Given the description of an element on the screen output the (x, y) to click on. 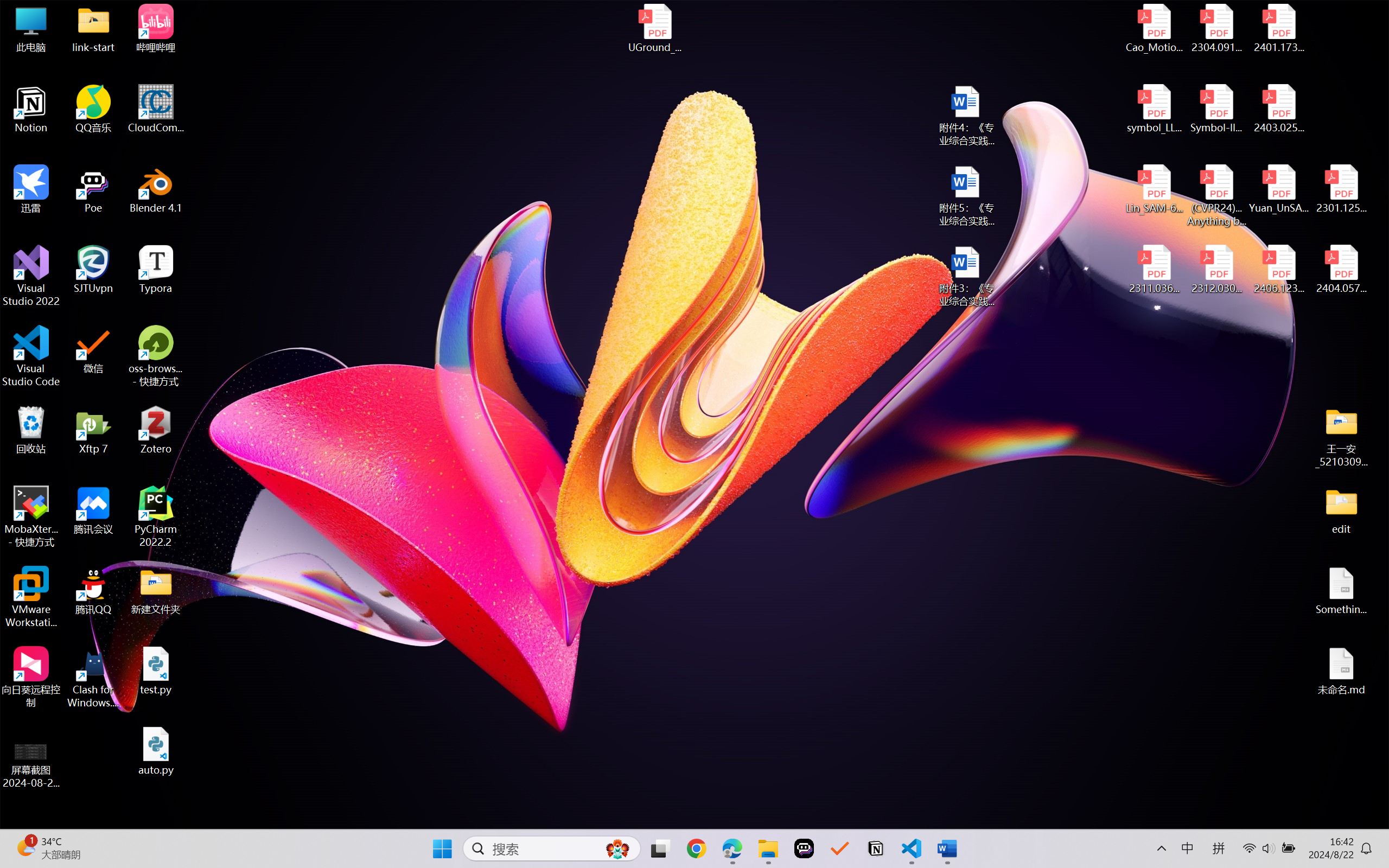
2311.03658v2.pdf (1154, 269)
2403.02502v1.pdf (1278, 109)
2312.03032v2.pdf (1216, 269)
Something.md (1340, 591)
Google Chrome (696, 848)
(CVPR24)Matching Anything by Segmenting Anything.pdf (1216, 195)
